Given the description of an element on the screen output the (x, y) to click on. 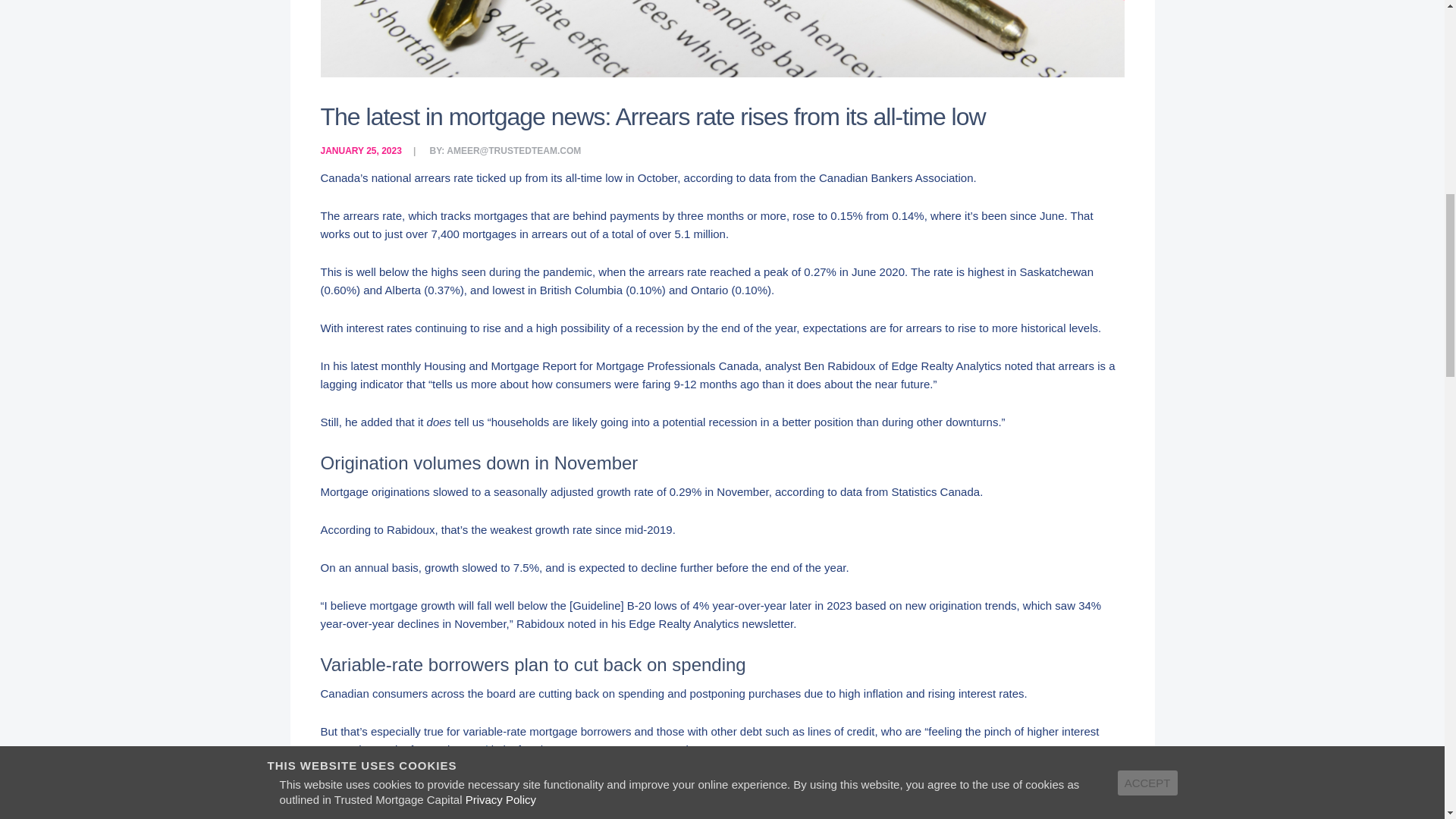
noted (473, 748)
